Given the description of an element on the screen output the (x, y) to click on. 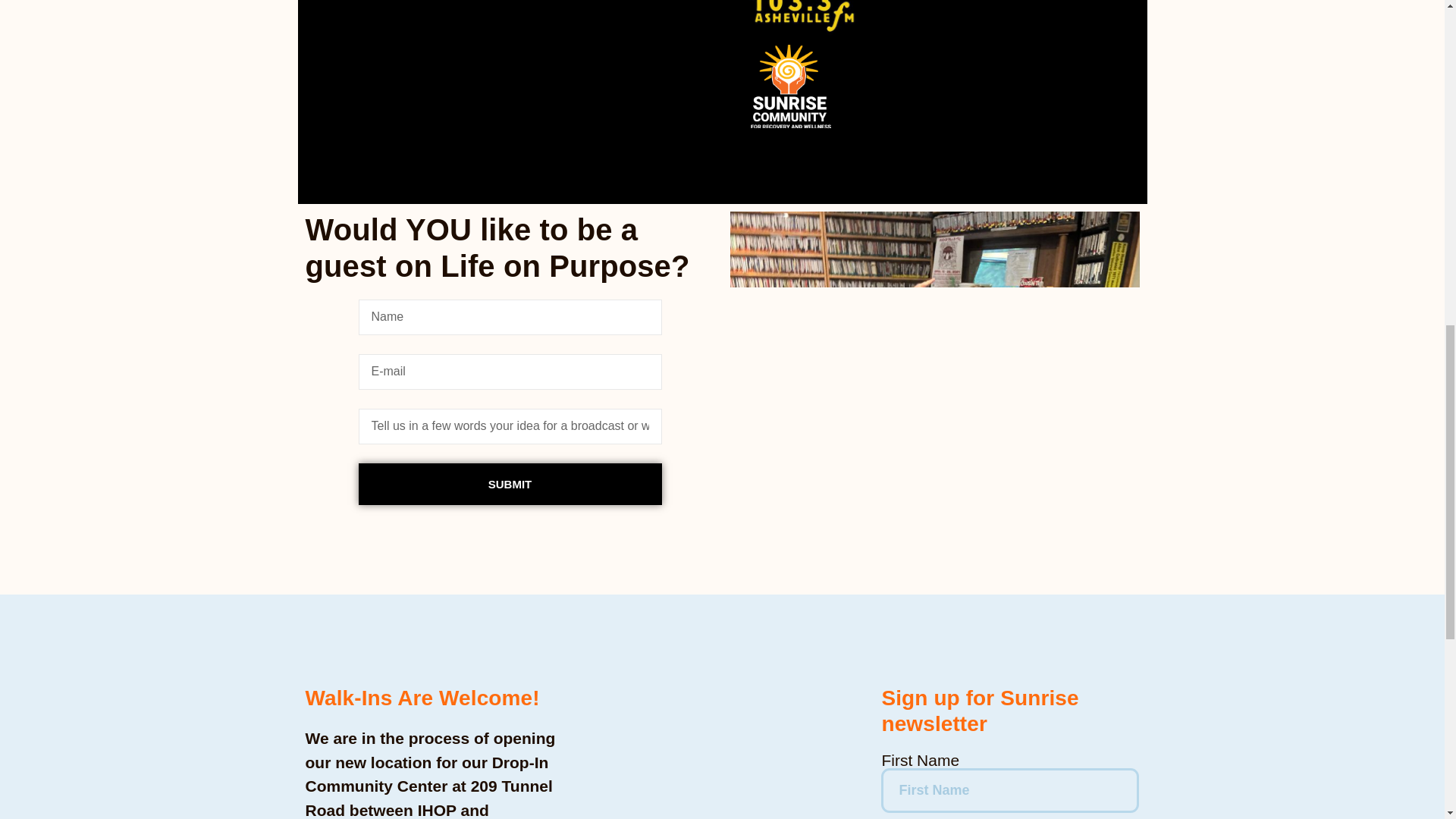
209 Tunnel Road Asheville NC 28805 (721, 752)
